Given the description of an element on the screen output the (x, y) to click on. 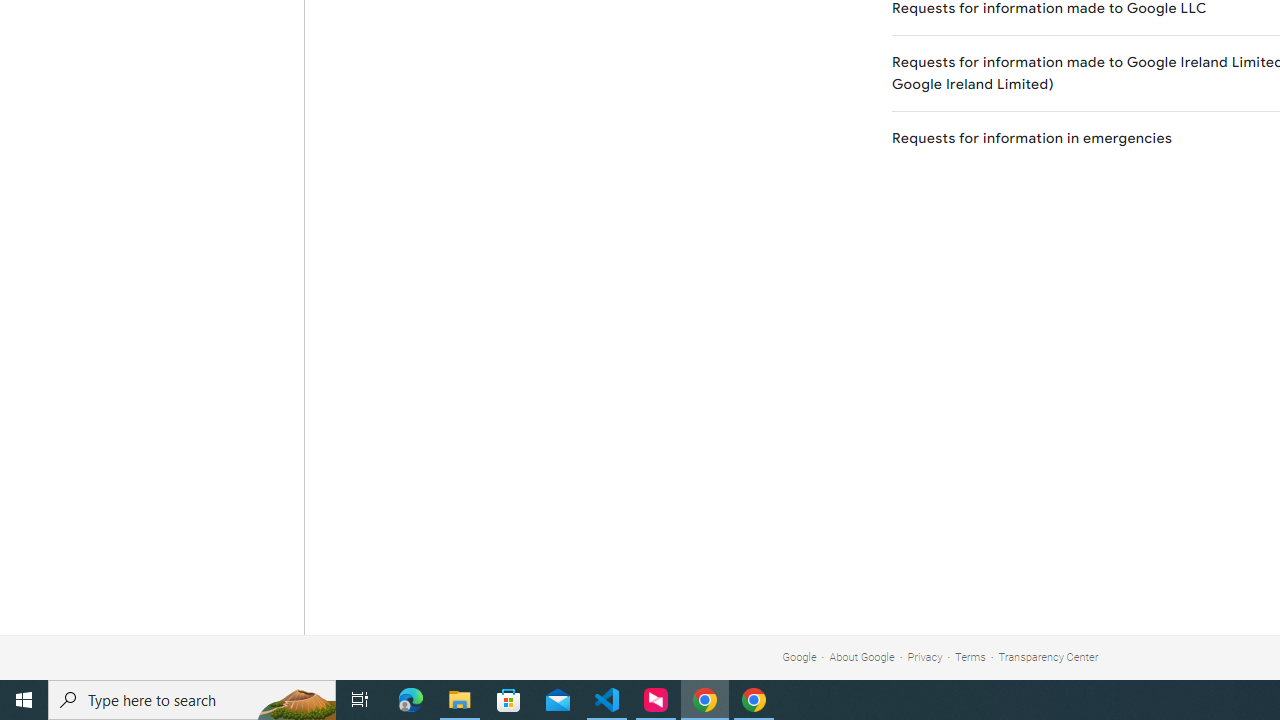
About Google (861, 656)
Transparency Center (1048, 656)
